Given the description of an element on the screen output the (x, y) to click on. 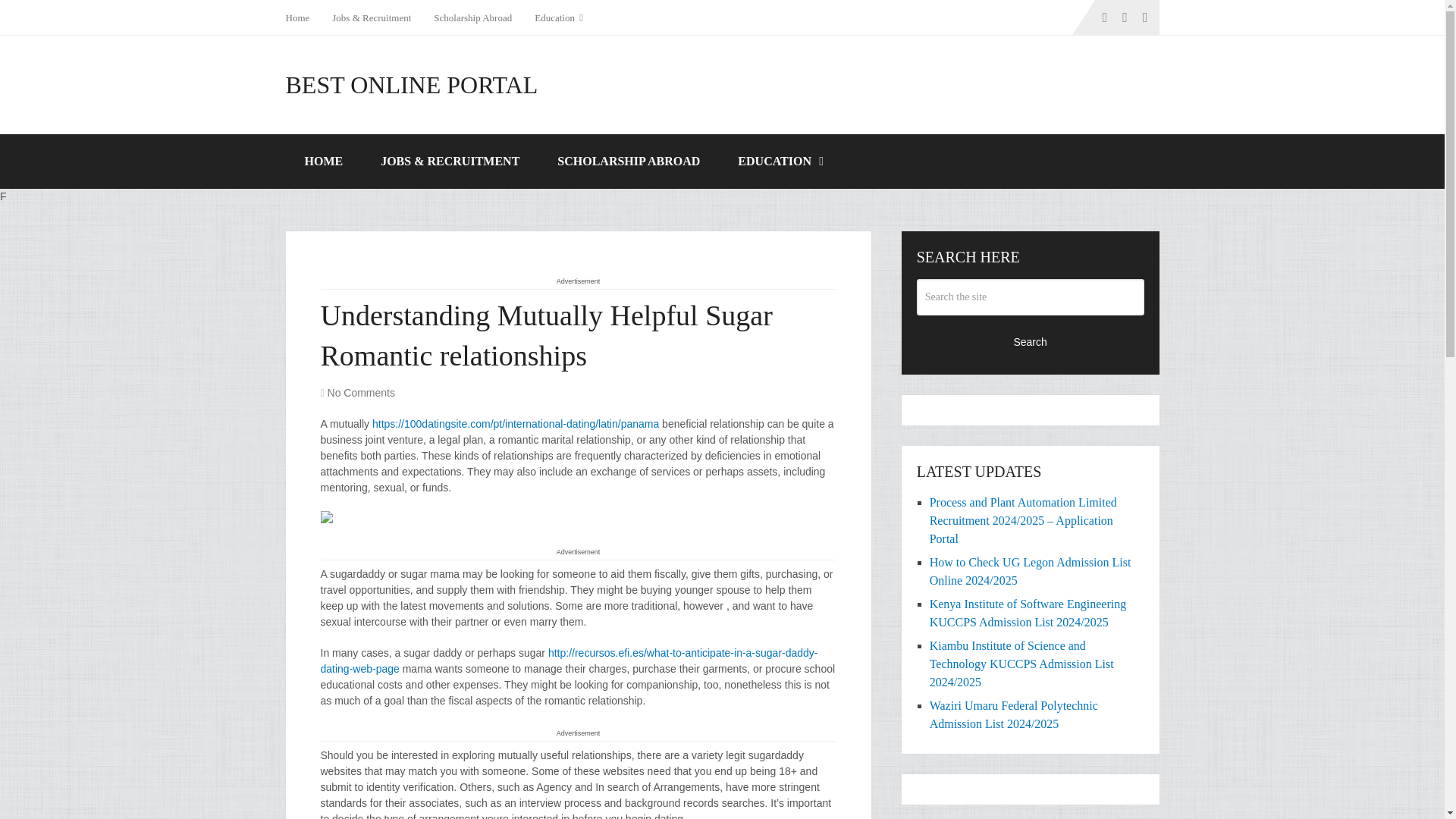
No Comments (360, 392)
Education (558, 17)
BEST ONLINE PORTAL (411, 84)
Search (1030, 340)
Home (302, 17)
HOME (323, 161)
Scholarship Abroad (472, 17)
EDUCATION (779, 161)
SCHOLARSHIP ABROAD (628, 161)
